Given the description of an element on the screen output the (x, y) to click on. 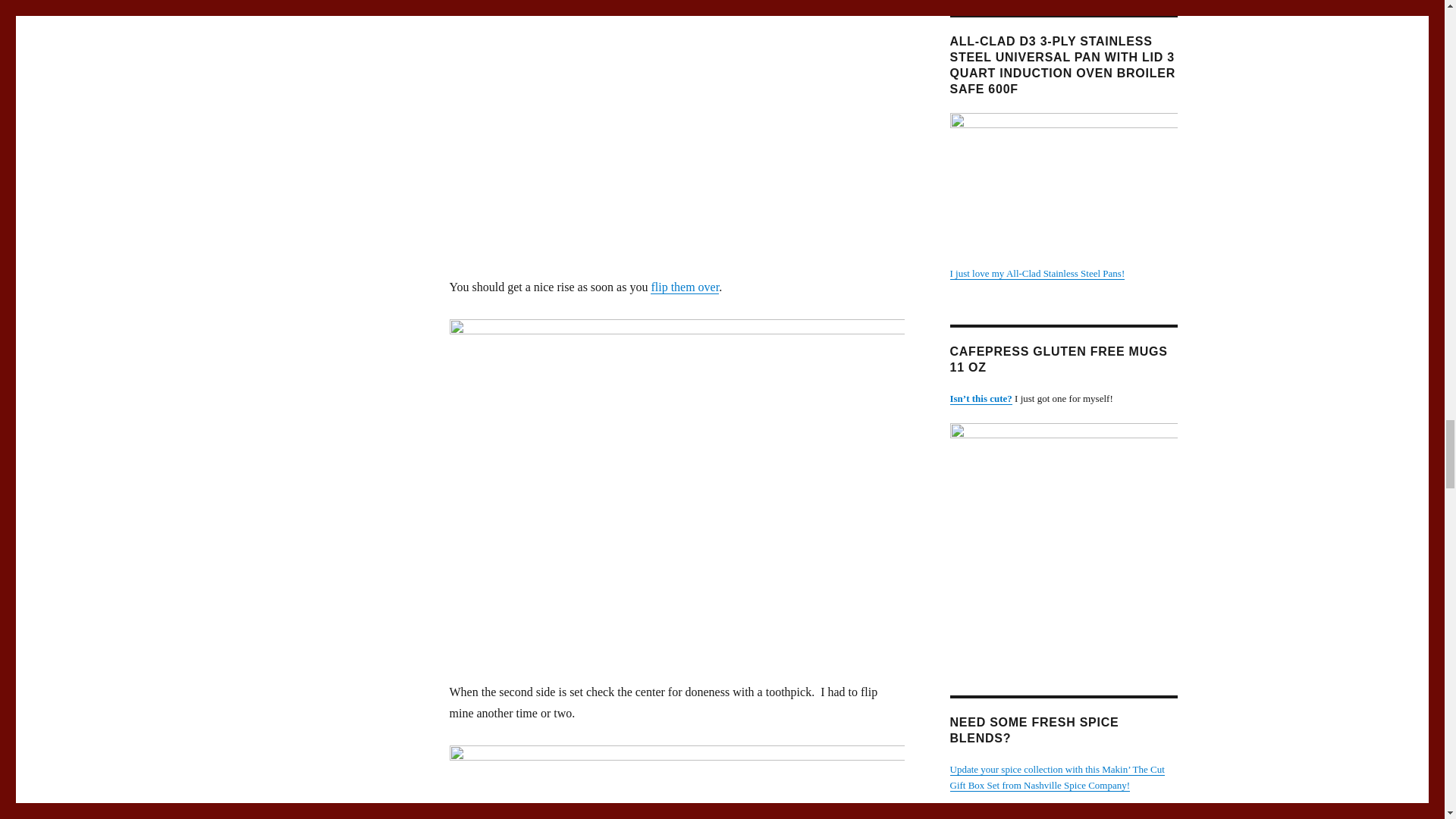
flip them over (684, 286)
